Given the description of an element on the screen output the (x, y) to click on. 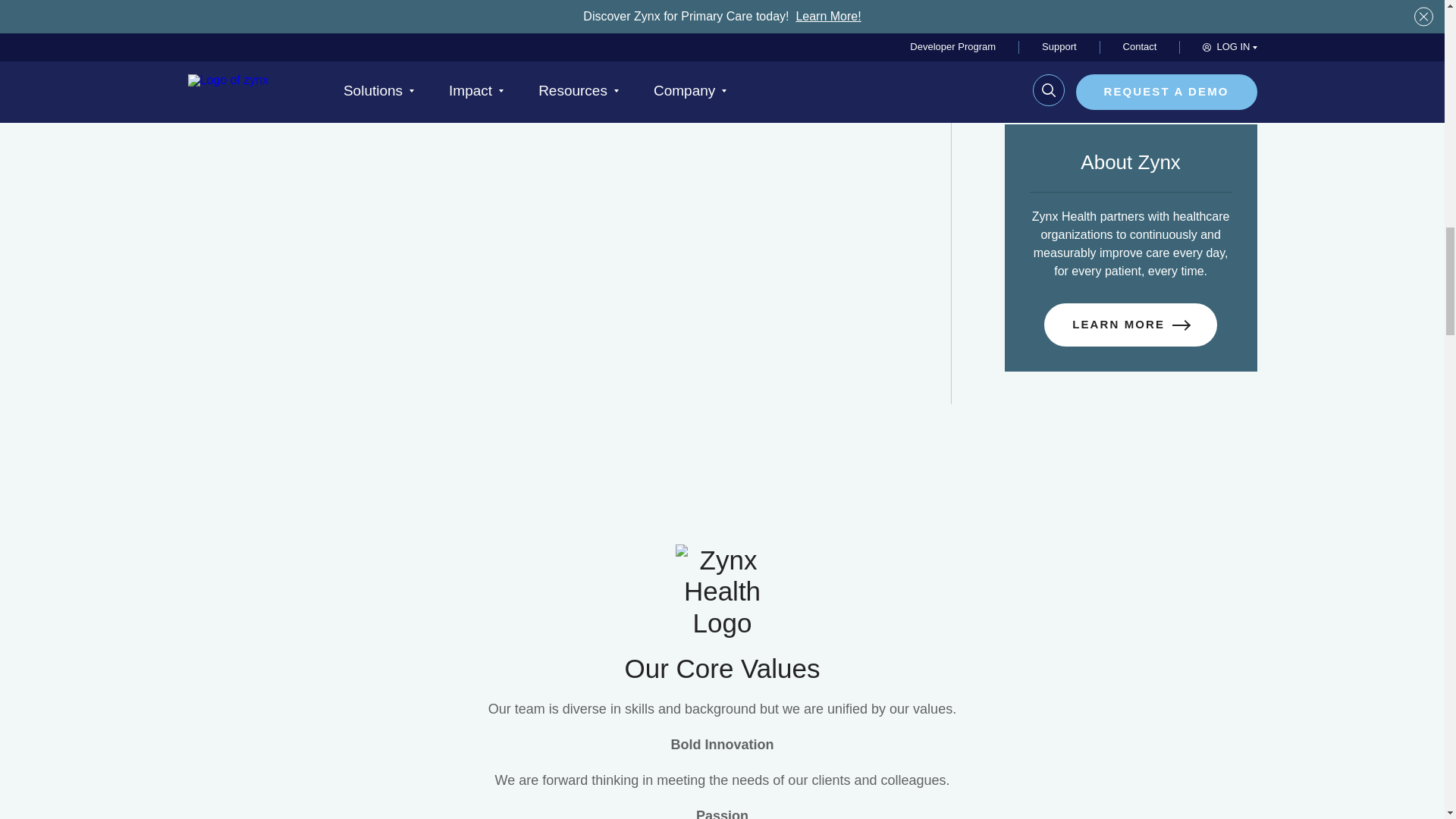
Zynx Health Logo mark navy transparent 1 (721, 591)
